Given the description of an element on the screen output the (x, y) to click on. 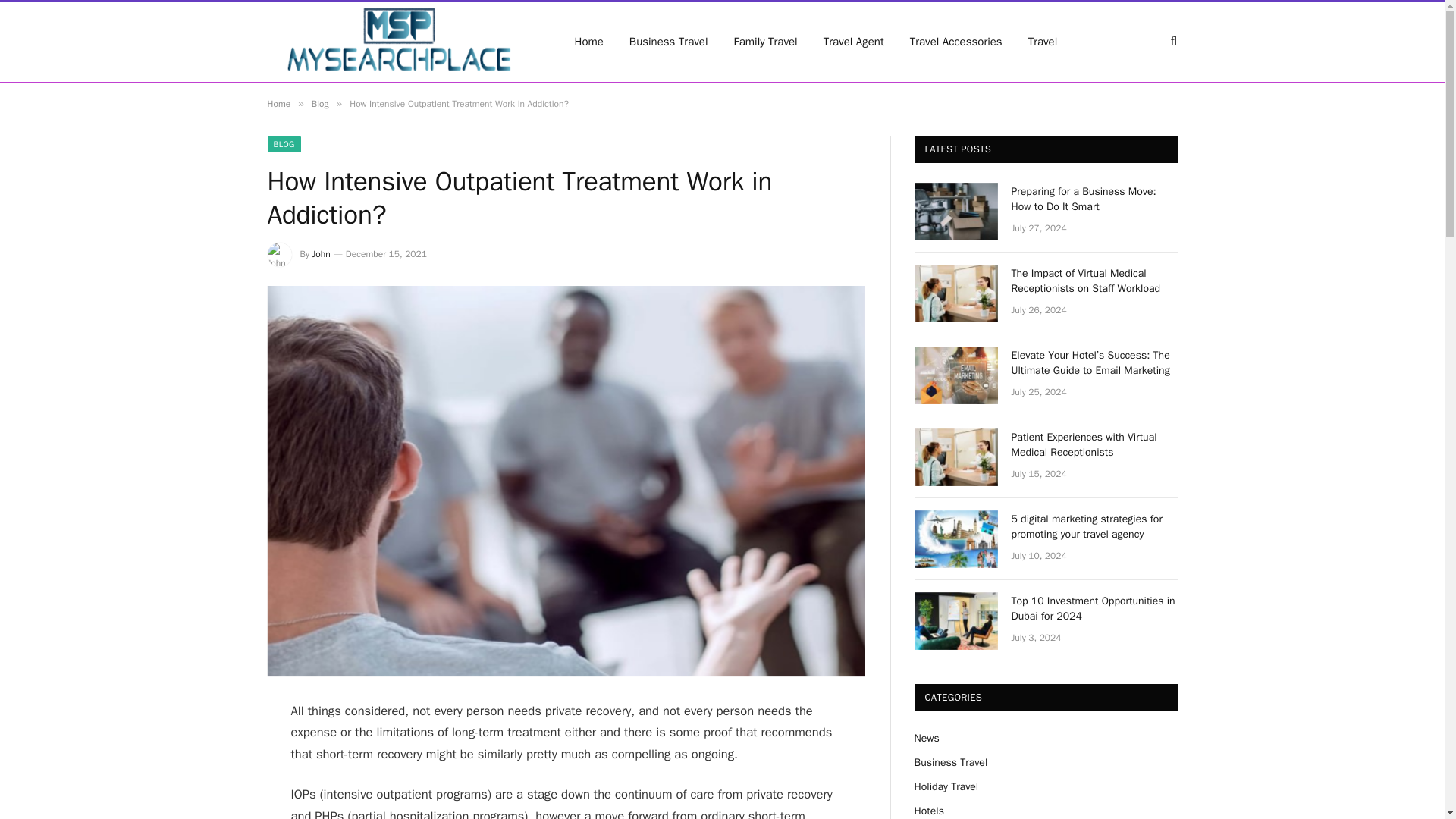
Home (277, 103)
Posts by John (321, 254)
Blog (320, 103)
Preparing for a Business Move: How to Do It Smart (955, 211)
BLOG (282, 143)
Travel Agent (853, 41)
Family Travel (765, 41)
